Given the description of an element on the screen output the (x, y) to click on. 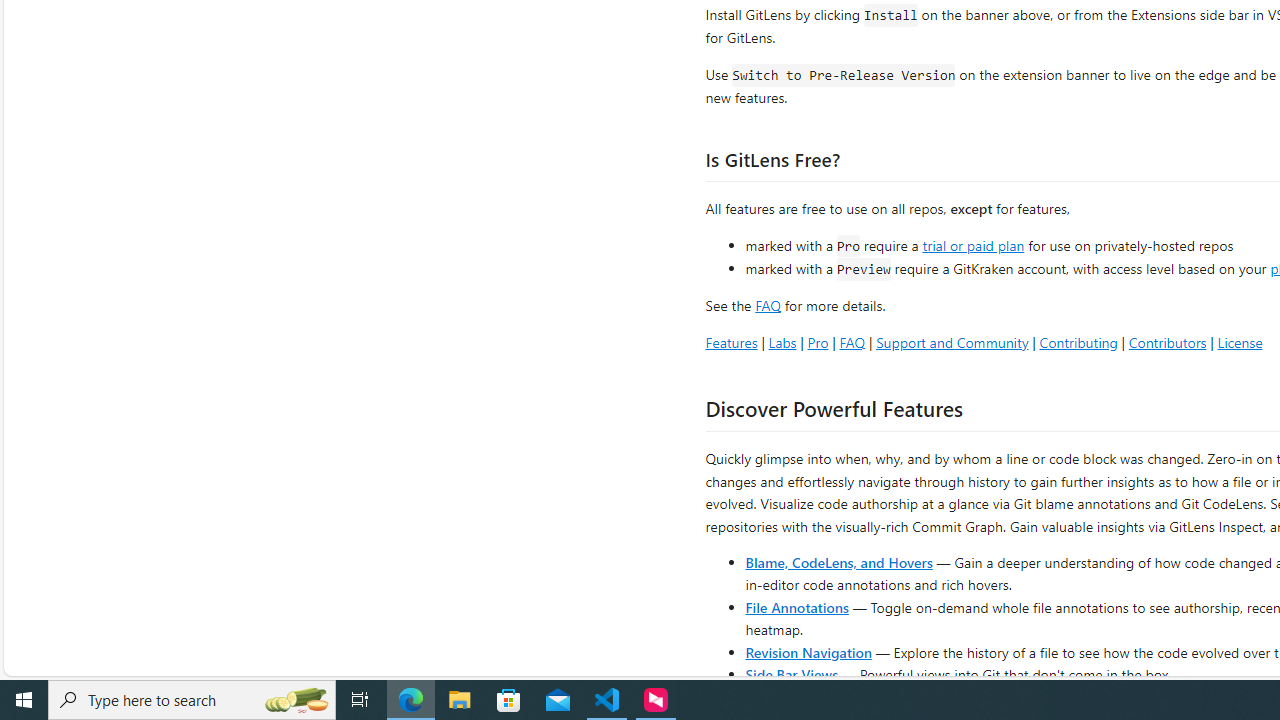
Contributing (1078, 341)
File Annotations (796, 606)
Revision Navigation (807, 651)
Labs (782, 341)
FAQ (852, 341)
trial or paid plan (973, 244)
Pro (817, 341)
License (1240, 341)
Side Bar Views (791, 673)
Features (731, 341)
Support and Community (952, 341)
Blame, CodeLens, and Hovers (838, 561)
Contributors (1167, 341)
